Given the description of an element on the screen output the (x, y) to click on. 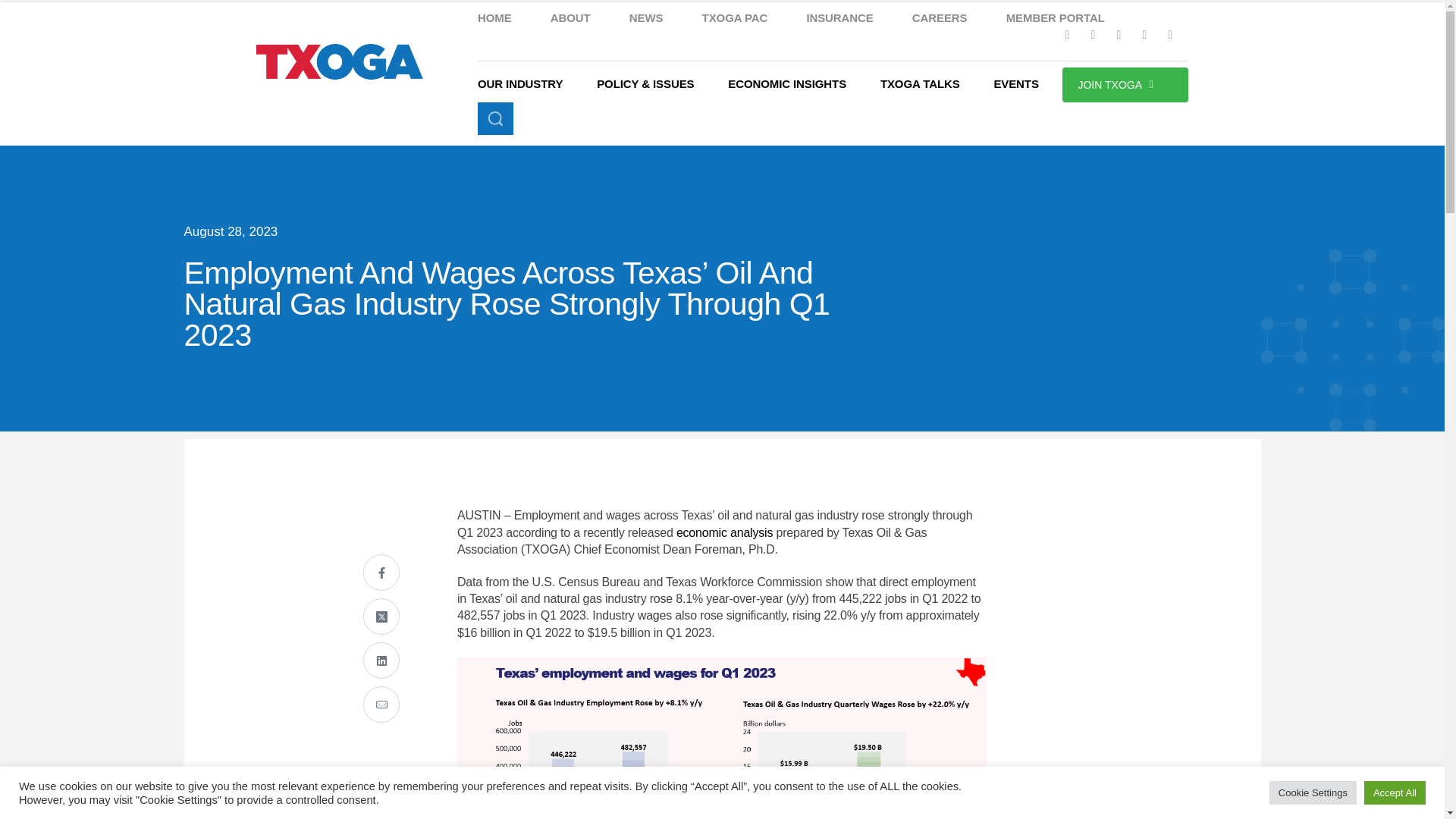
ABOUT (570, 17)
HOME (494, 17)
NEWS (645, 17)
